Given the description of an element on the screen output the (x, y) to click on. 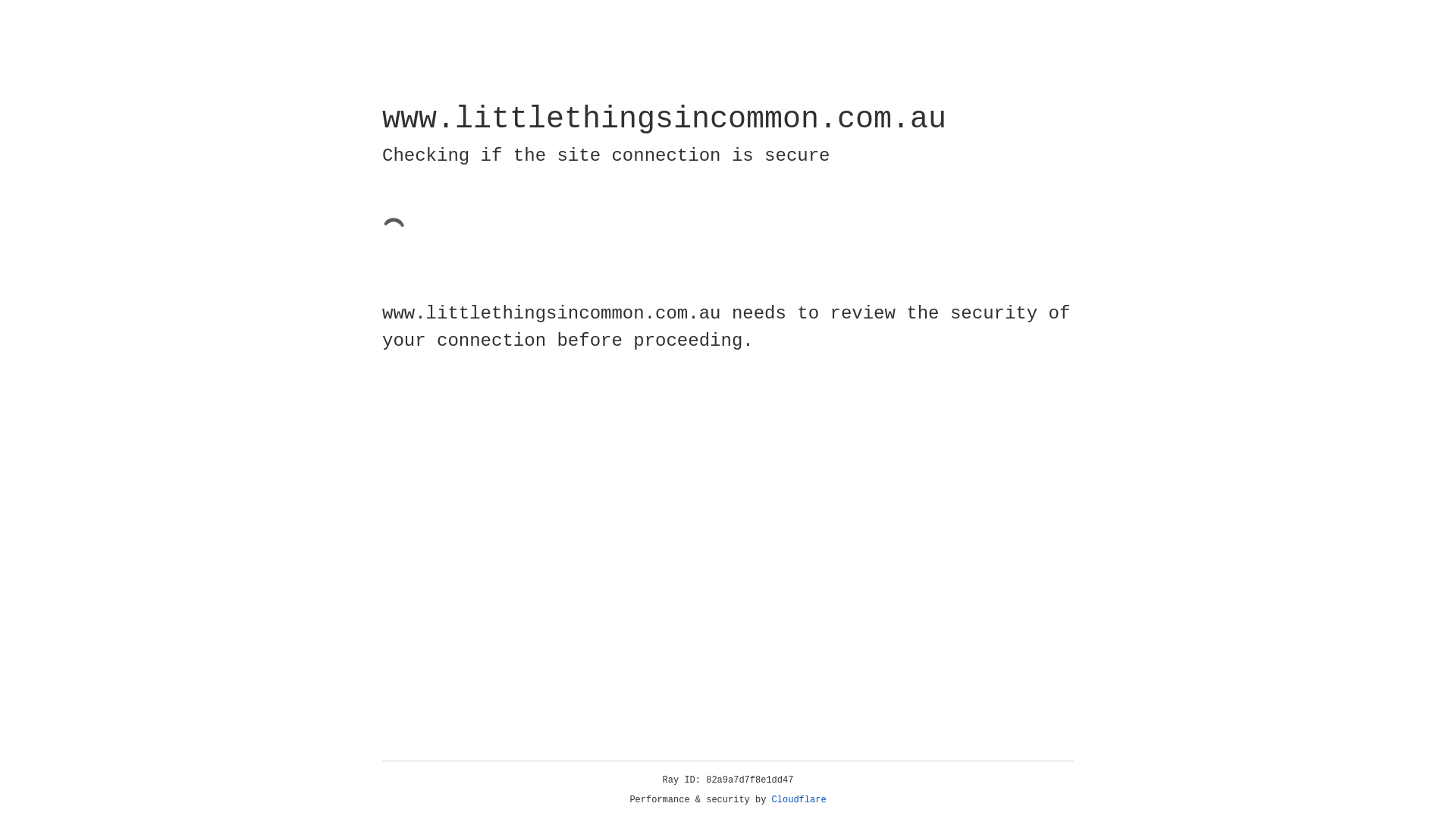
Cloudflare Element type: text (798, 799)
